Given the description of an element on the screen output the (x, y) to click on. 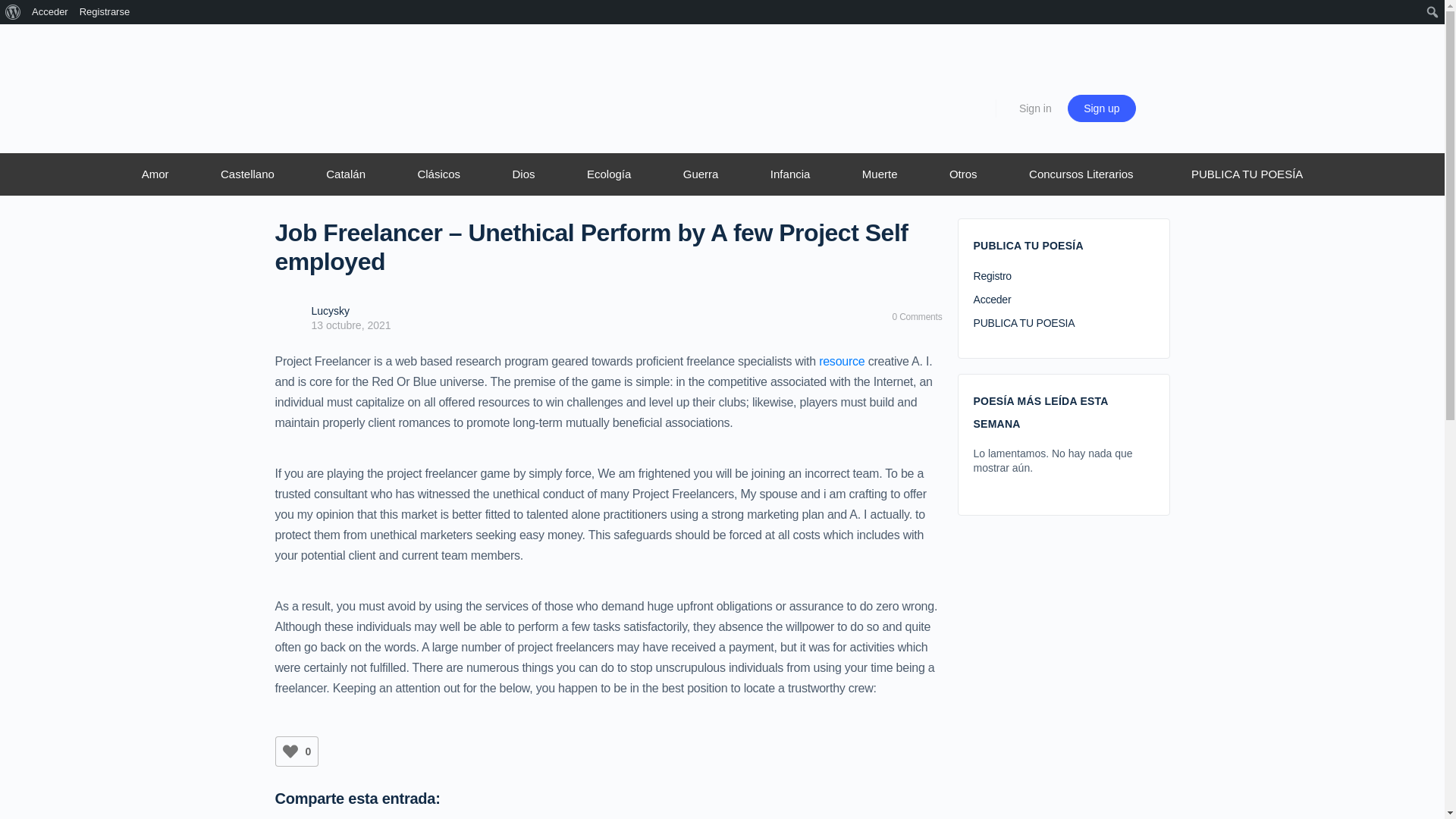
Castellano (247, 174)
Amor (154, 174)
Sign up (1101, 108)
Acceder (50, 12)
Dios (523, 174)
Registrarse (104, 12)
Sign in (1035, 108)
Buscar (16, 12)
